Given the description of an element on the screen output the (x, y) to click on. 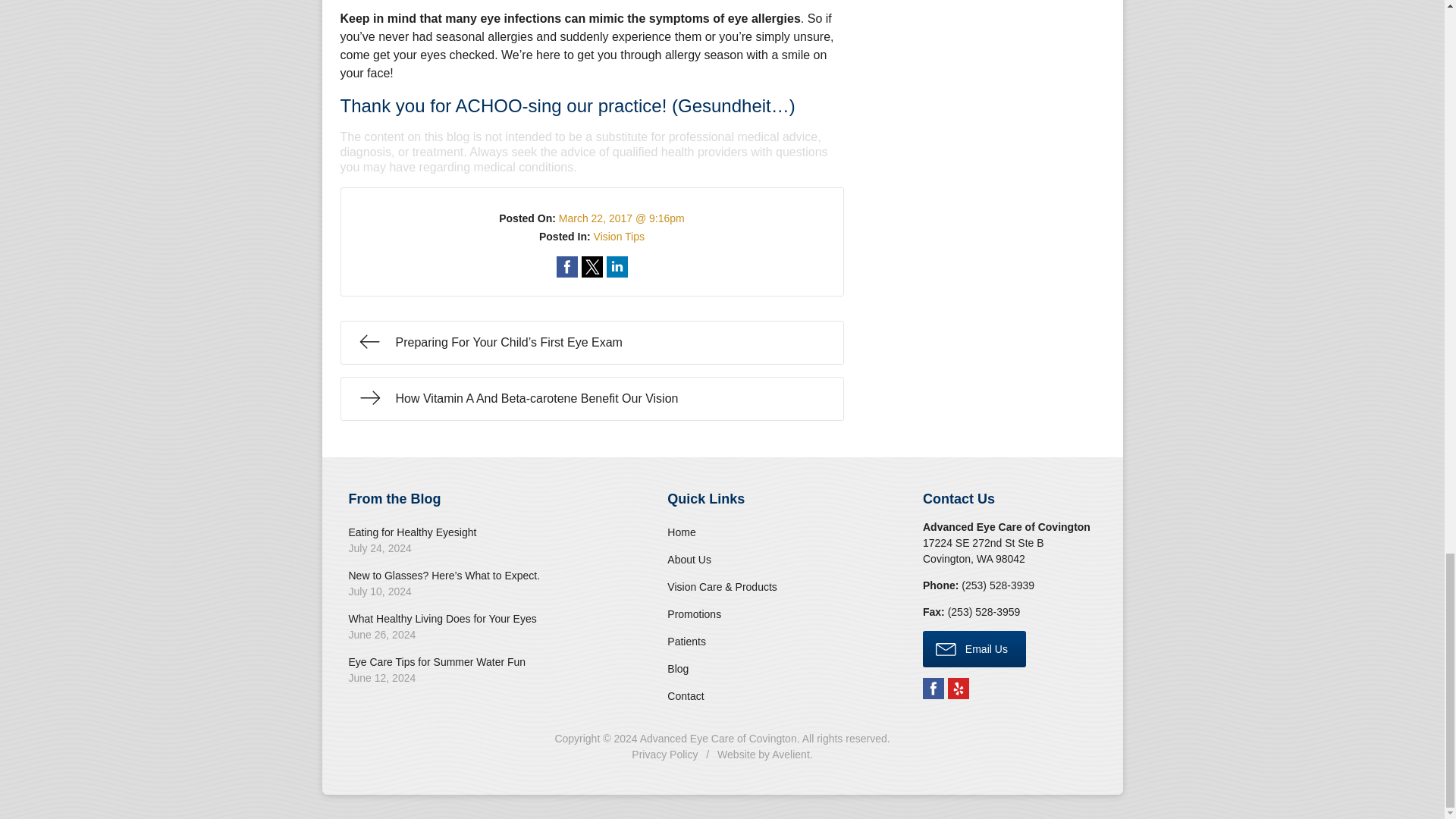
Share on Facebook (567, 266)
Share on Facebook (567, 266)
Go to our Yelp Page (958, 688)
Contact practice (996, 585)
Vision Tips (619, 236)
Share on Twitter (591, 266)
Share on Twitter (591, 266)
How Vitamin A And Beta-carotene Benefit Our Vision (591, 398)
Share on LinkedIn (617, 266)
Share on LinkedIn (617, 266)
Open this address in Google Maps (983, 551)
Powered by Avelient (790, 754)
Go to our Facebook Page (933, 688)
